Given the description of an element on the screen output the (x, y) to click on. 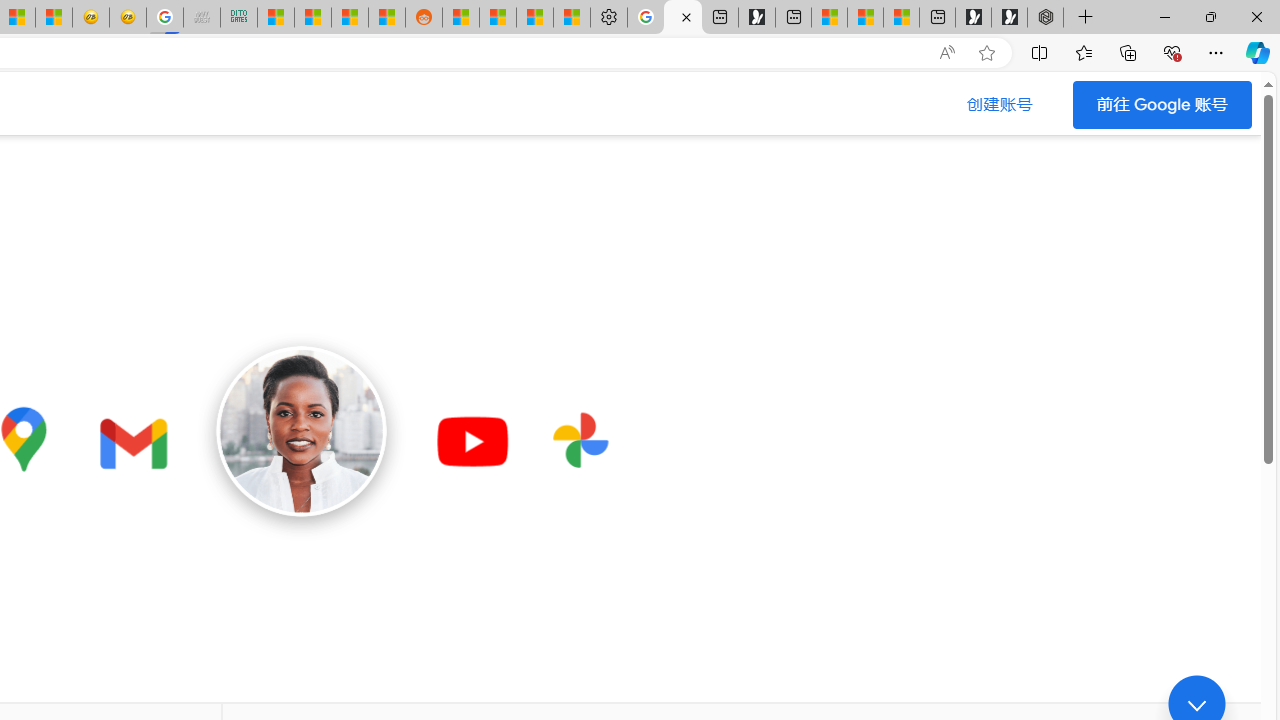
These 3 Stocks Pay You More Than 5% to Own Them (901, 17)
